Given the description of an element on the screen output the (x, y) to click on. 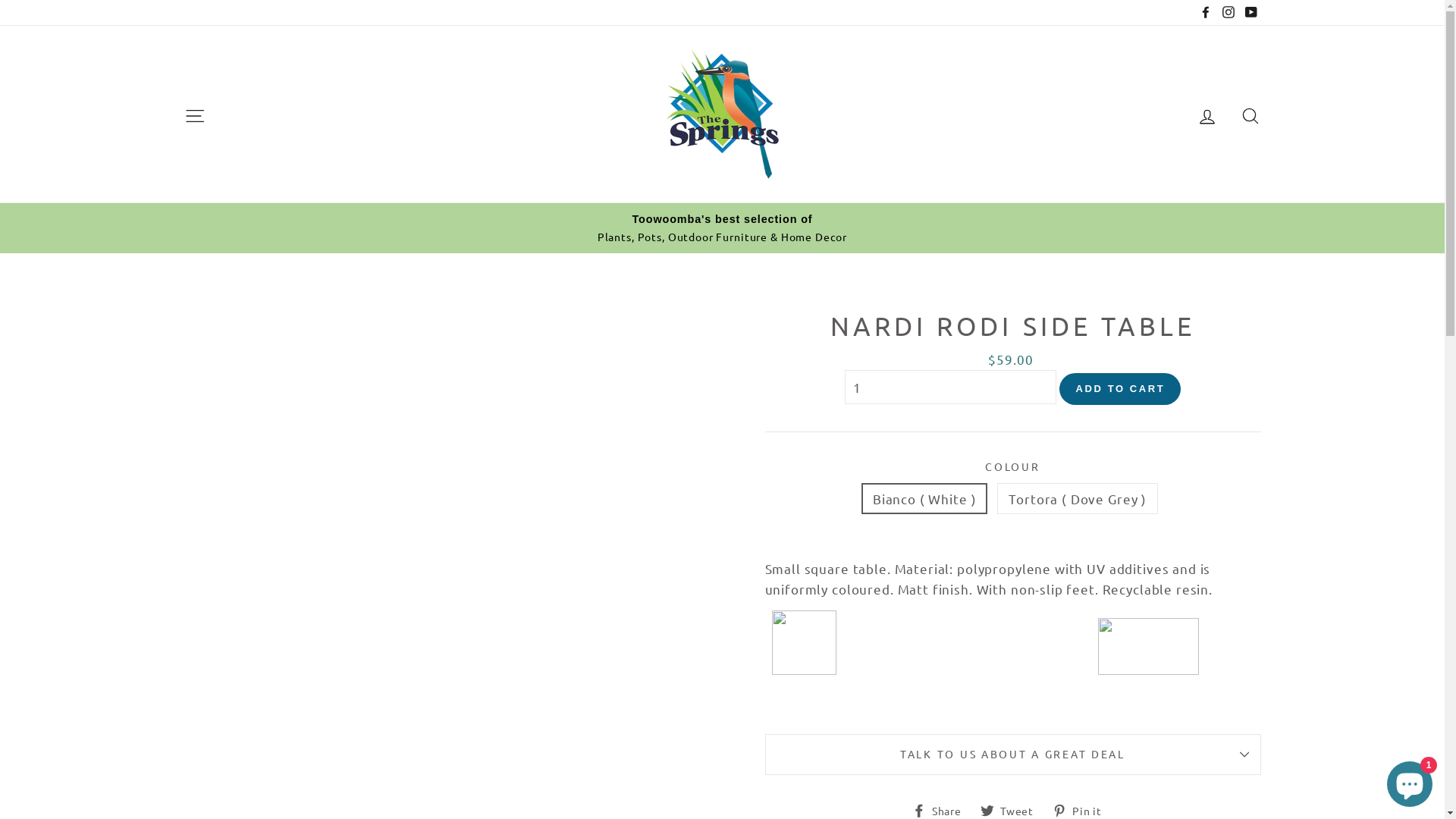
Skip to content Element type: text (0, 0)
TALK TO US ABOUT A GREAT DEAL Element type: text (1012, 754)
Tweet
Tweet on Twitter Element type: text (1012, 808)
Add to cart Element type: text (1119, 388)
Facebook Element type: text (1205, 12)
Instagram Element type: text (1228, 12)
Share
Share on Facebook Element type: text (942, 808)
YouTube Element type: text (1250, 12)
Pin it
Pin on Pinterest Element type: text (1082, 808)
Shopify online store chat Element type: hover (1409, 780)
